Given the description of an element on the screen output the (x, y) to click on. 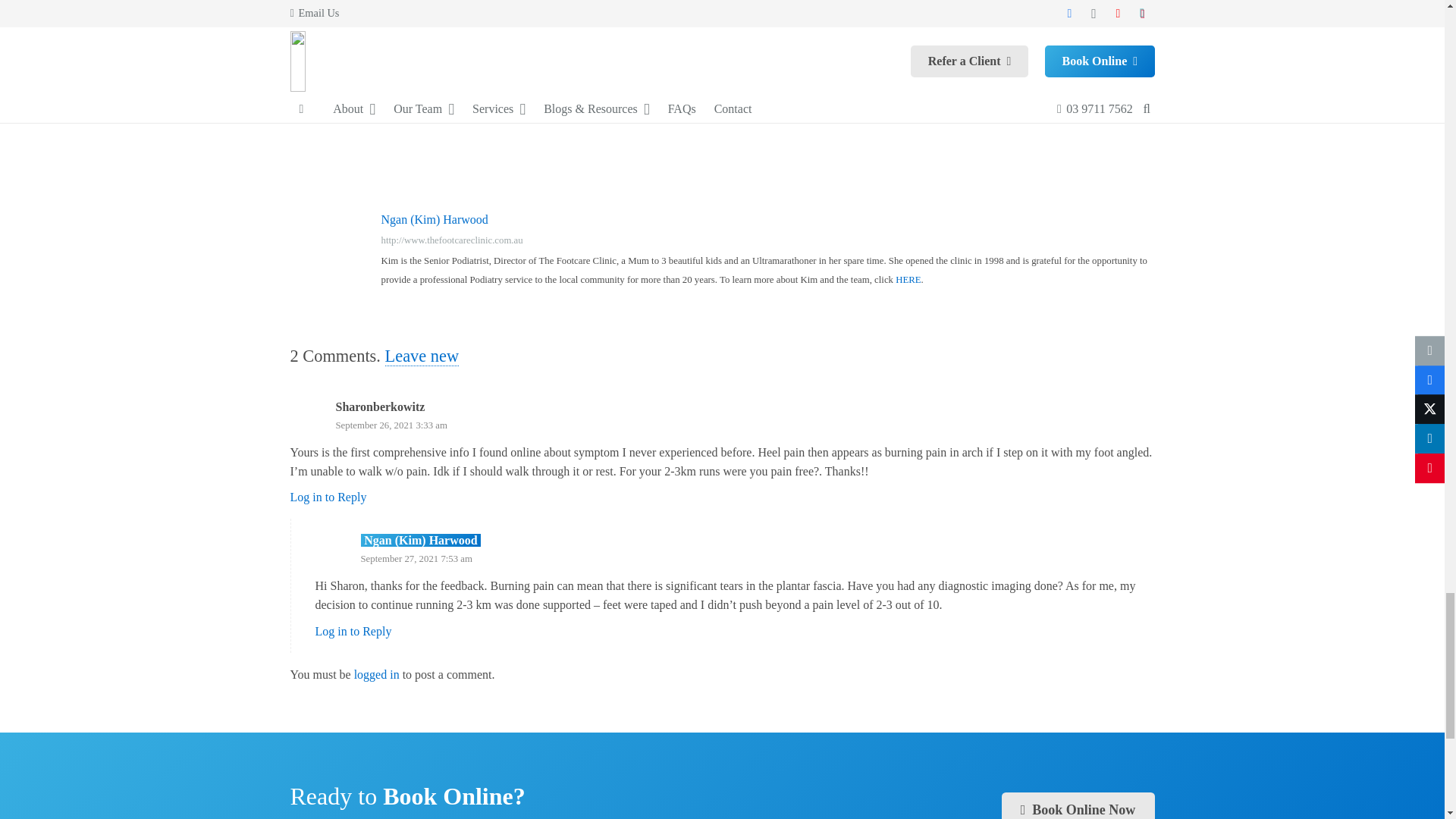
Book Online (1077, 805)
September 27, 2021 7:53 am (417, 558)
September 26, 2021 3:33 am (390, 425)
